Given the description of an element on the screen output the (x, y) to click on. 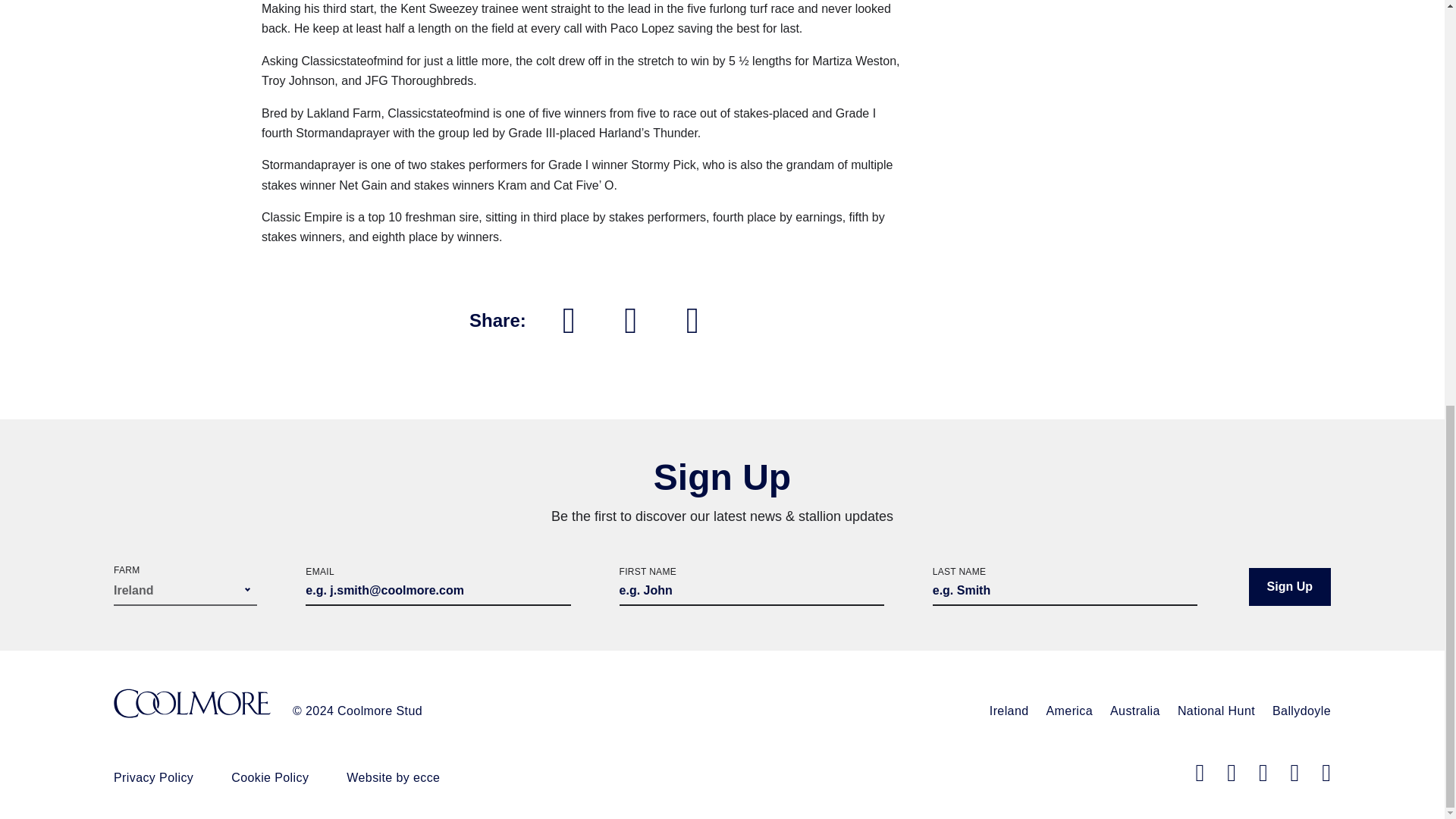
Sign Up (1289, 587)
Cookie Policy (269, 777)
National Hunt (1216, 710)
America (1069, 710)
Australia (1134, 710)
Ireland (1009, 710)
Website by ecce (392, 777)
Privacy Policy (153, 777)
Ballydoyle (1301, 710)
Coolmore (191, 704)
